Given the description of an element on the screen output the (x, y) to click on. 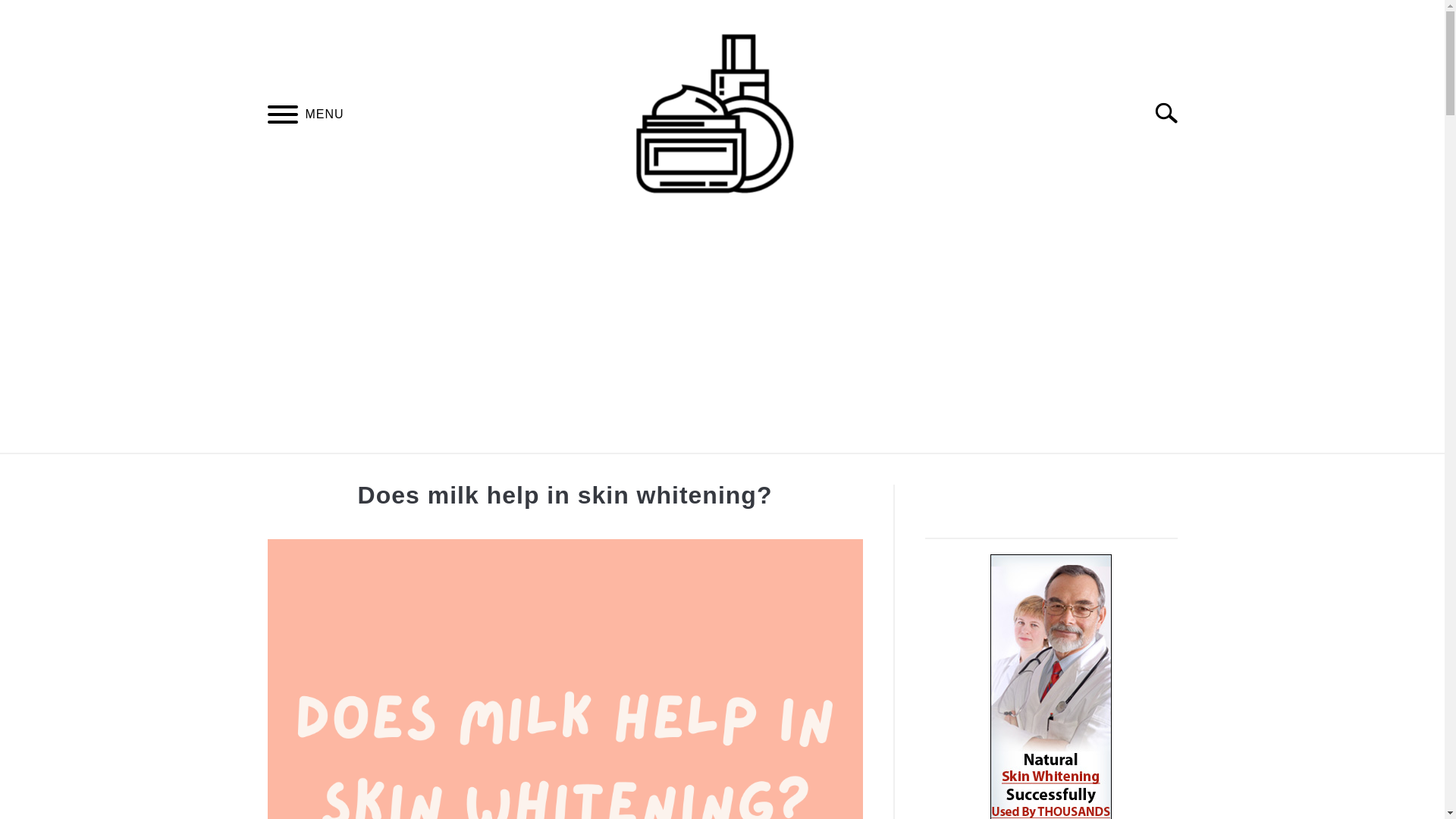
MENU (282, 116)
Search (1172, 112)
